Given the description of an element on the screen output the (x, y) to click on. 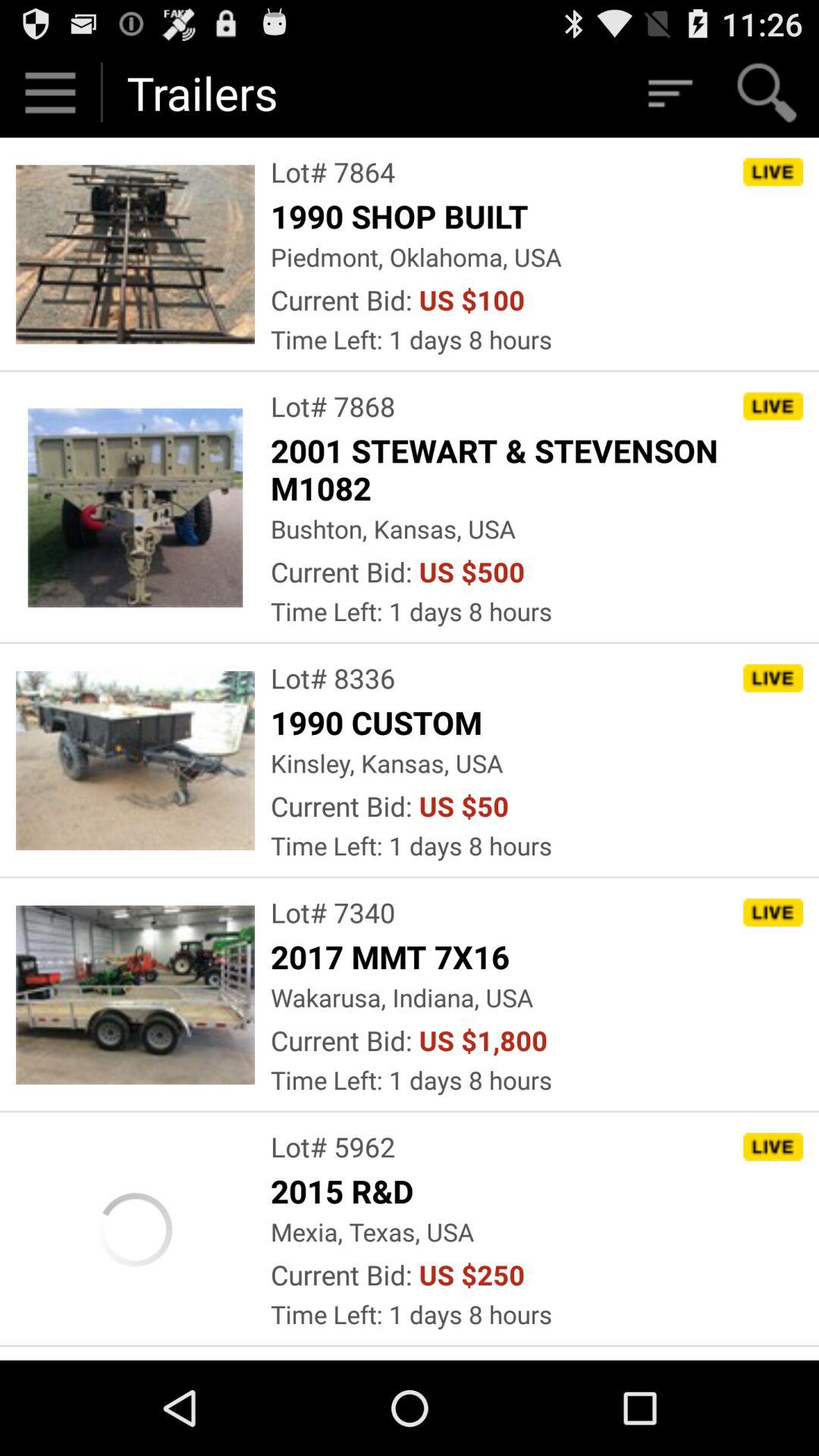
click icon next to current bid: (464, 805)
